Given the description of an element on the screen output the (x, y) to click on. 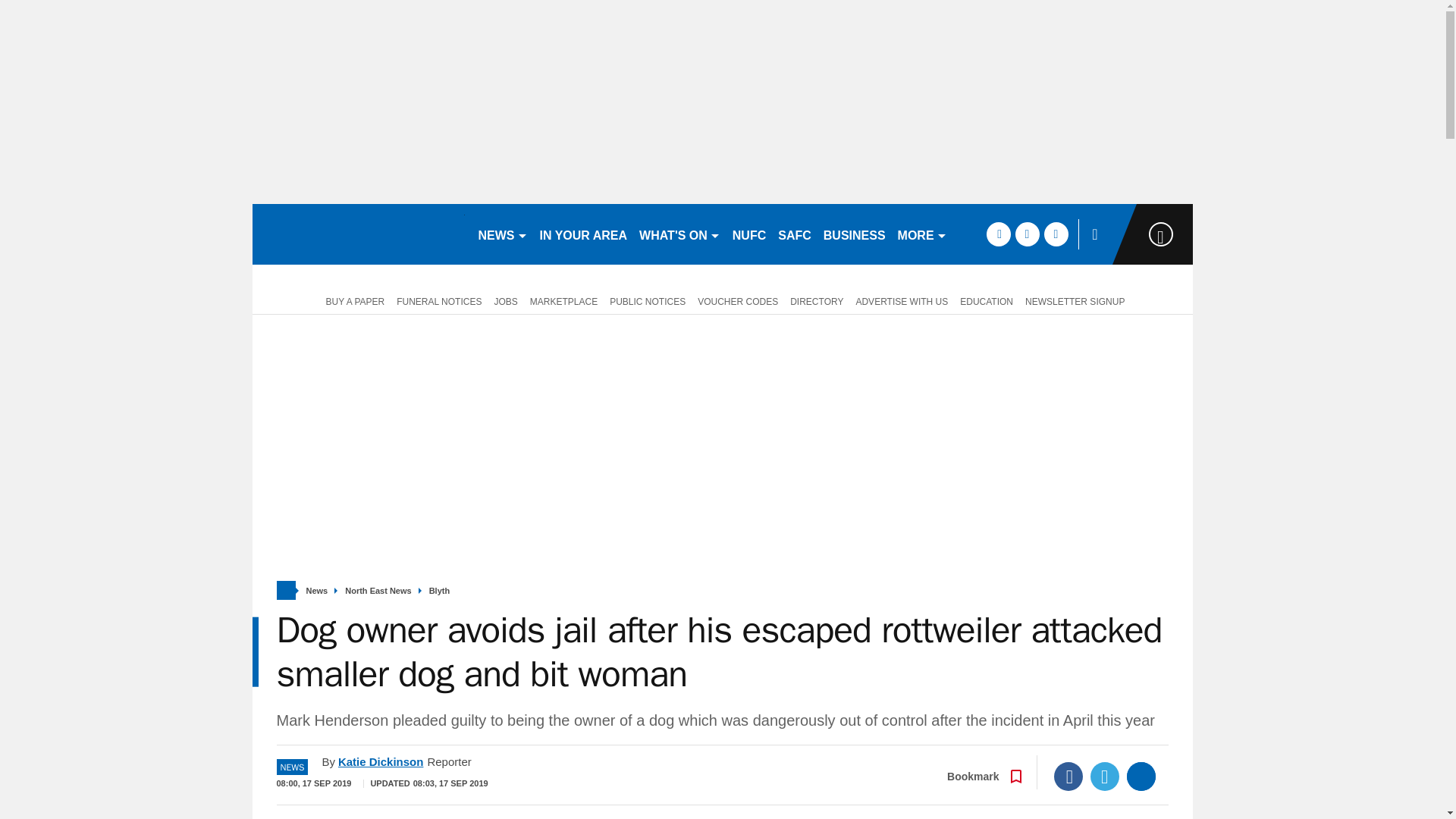
twitter (1026, 233)
IN YOUR AREA (583, 233)
SAFC (793, 233)
facebook (997, 233)
WHAT'S ON (679, 233)
instagram (1055, 233)
Twitter (1104, 776)
Facebook (1068, 776)
MORE (922, 233)
BUSINESS (853, 233)
nechronicle (357, 233)
NUFC (748, 233)
NEWS (501, 233)
